Given the description of an element on the screen output the (x, y) to click on. 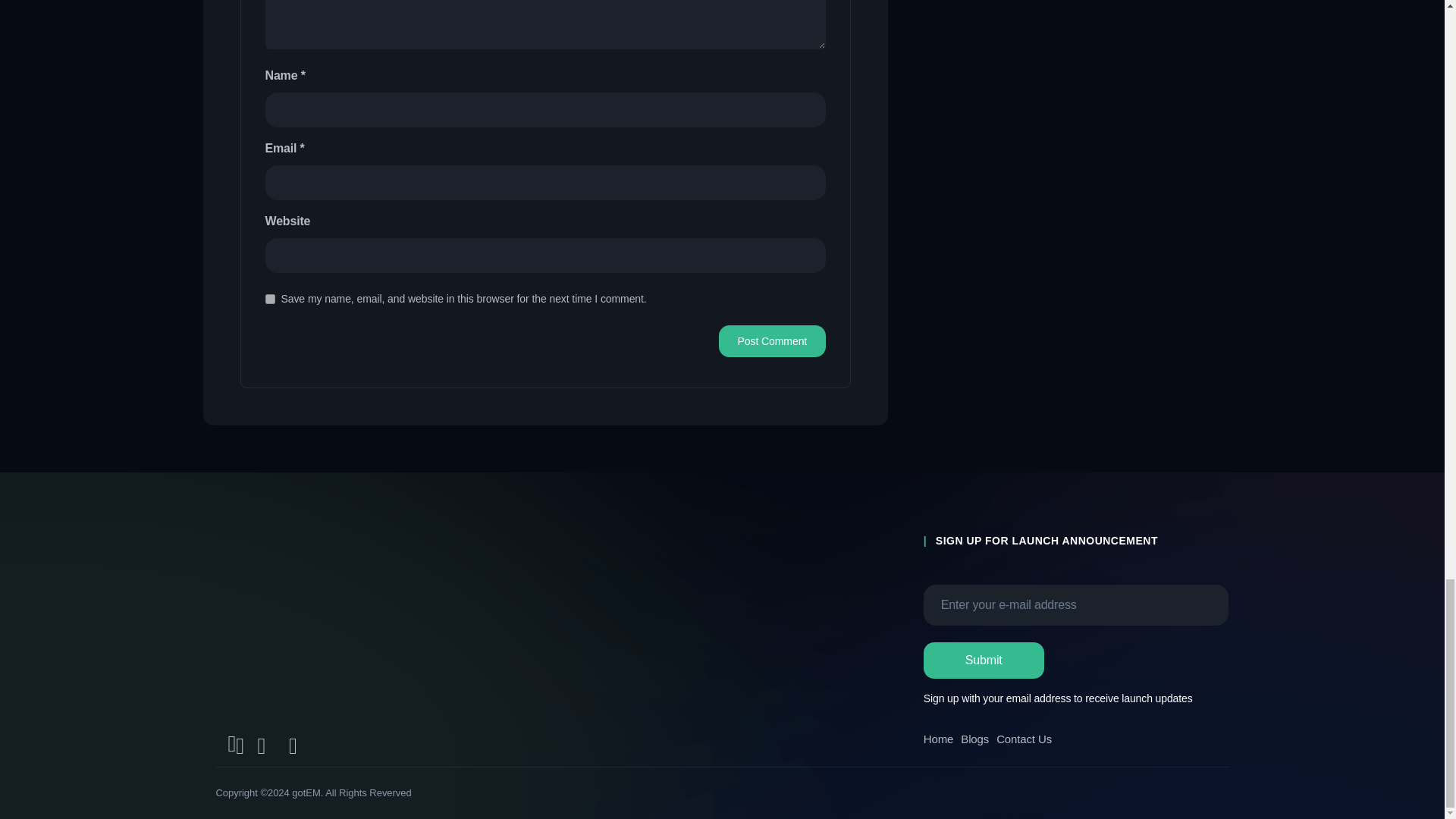
Contact Us (1023, 738)
Post Comment (772, 341)
Blogs (974, 738)
yes (269, 298)
Submit (983, 660)
Submit (983, 660)
Post Comment (772, 341)
Home (938, 738)
